Given the description of an element on the screen output the (x, y) to click on. 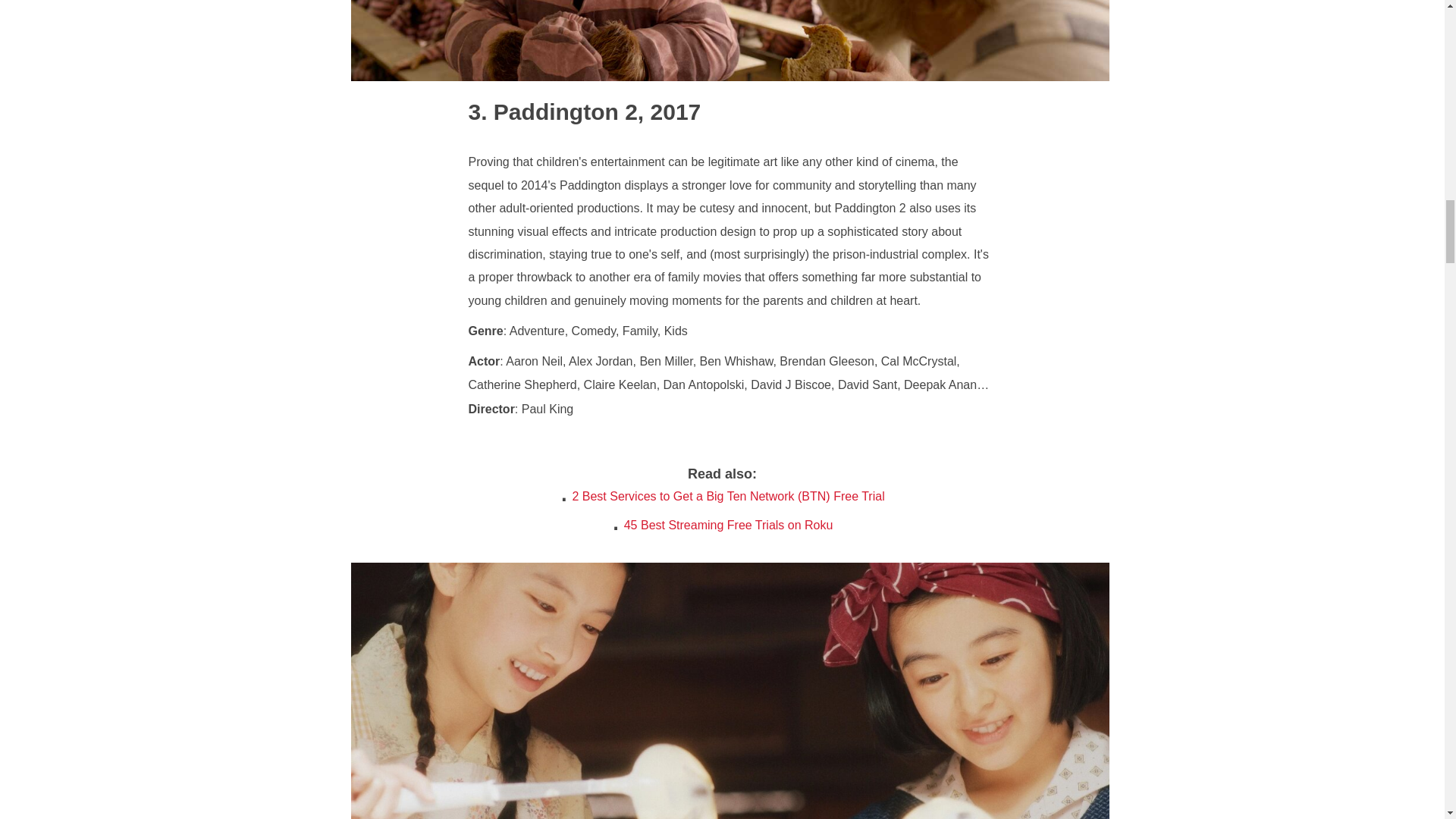
Paddington 2 (552, 111)
